Given the description of an element on the screen output the (x, y) to click on. 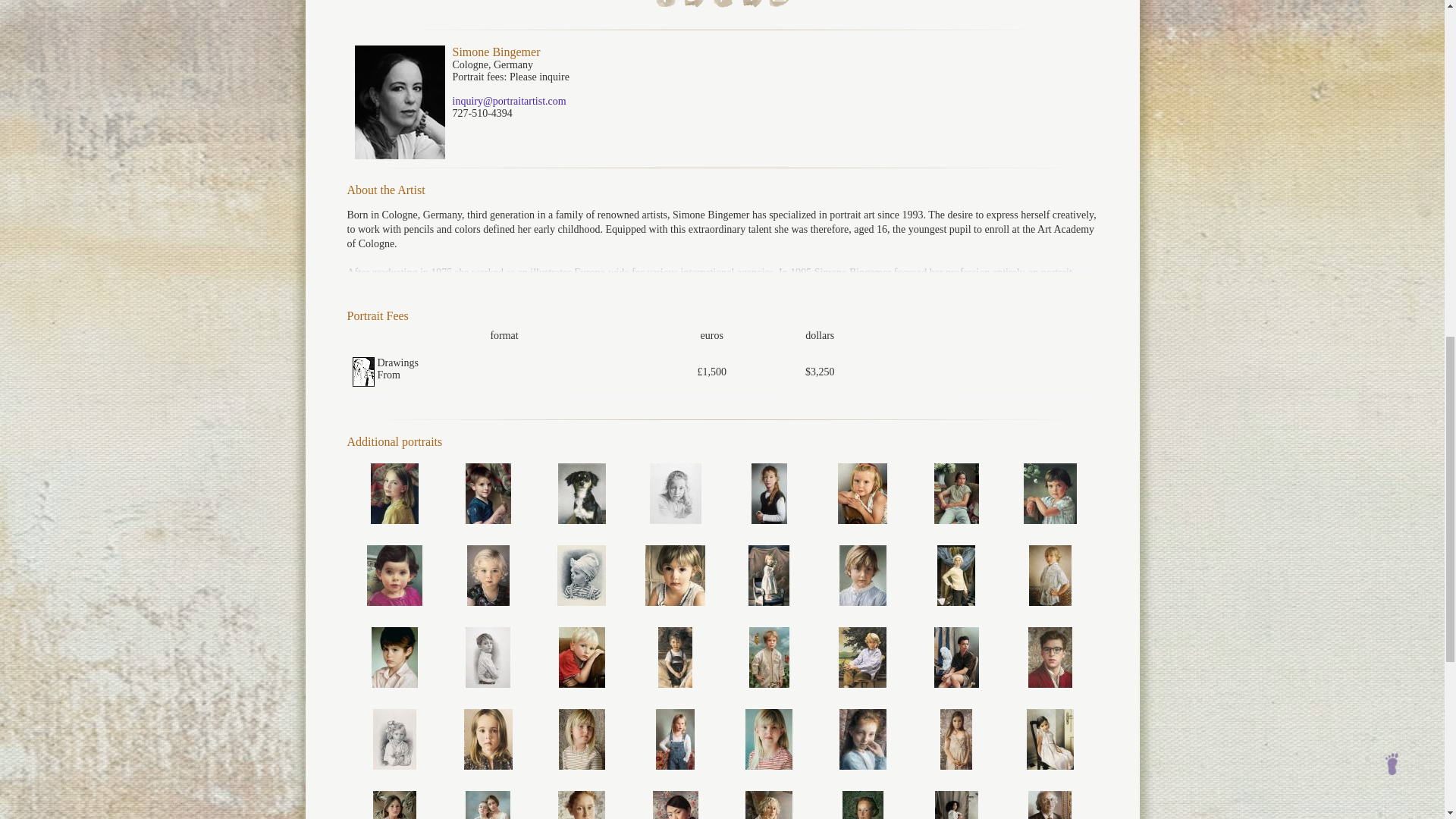
Add to favorites (750, 4)
Tweet (694, 4)
Share on Facebook (665, 4)
Add to favorites (750, 3)
Pin it (723, 4)
